Given the description of an element on the screen output the (x, y) to click on. 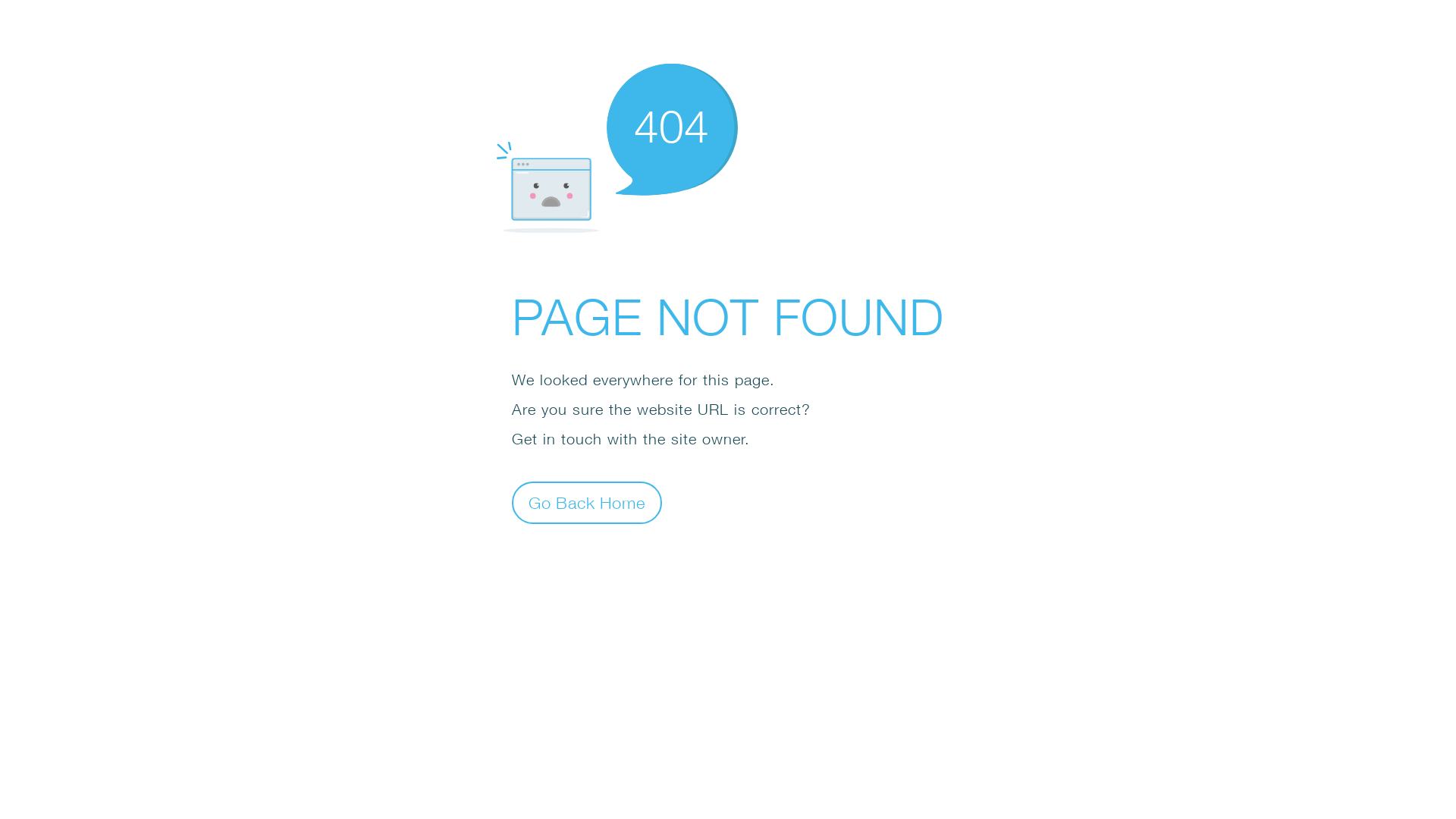
Go Back Home Element type: text (586, 502)
